Given the description of an element on the screen output the (x, y) to click on. 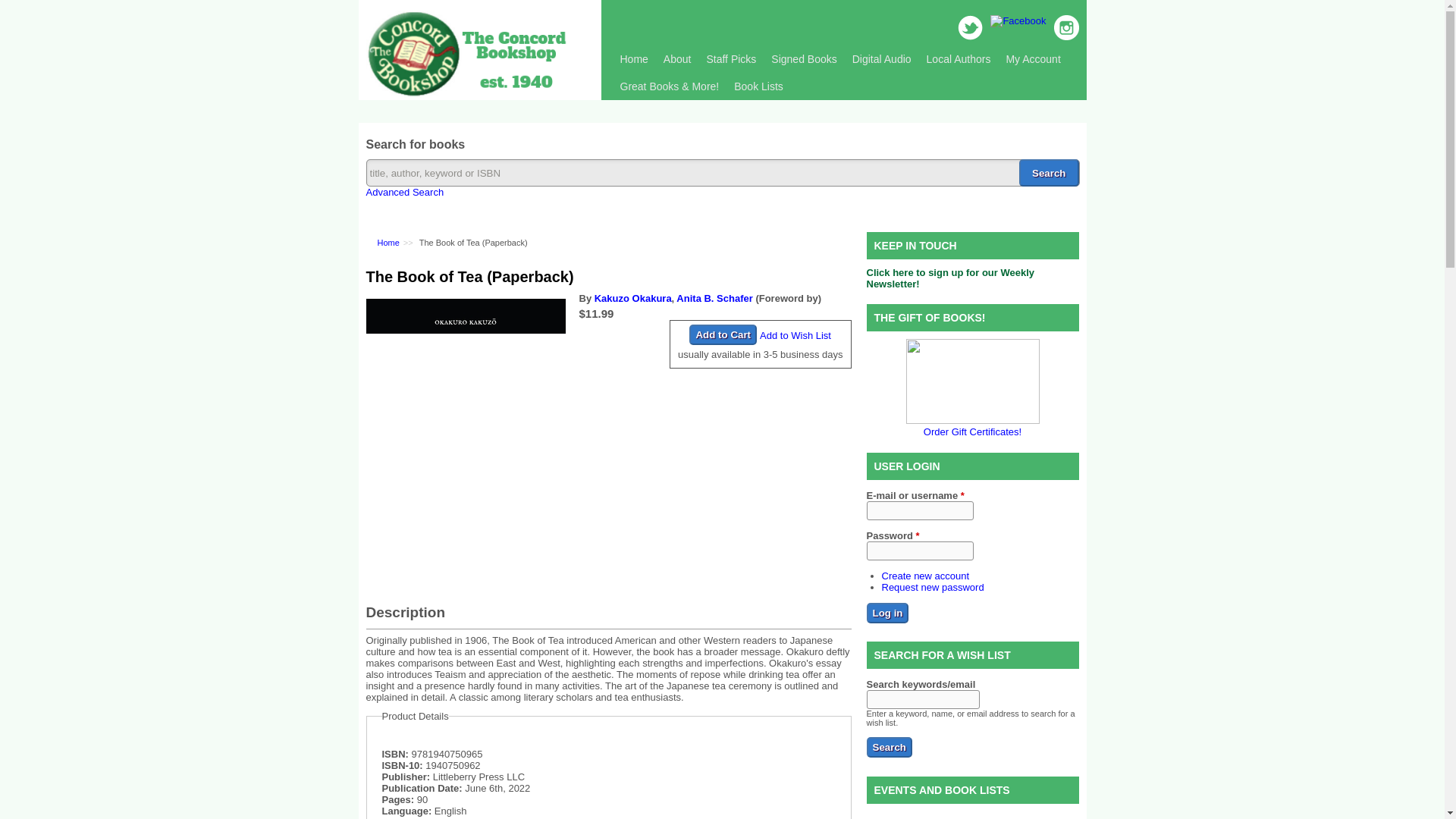
Log in (887, 611)
Digital Audio (881, 58)
Home (634, 58)
Create a new user account. (924, 575)
Request new password via e-mail. (932, 586)
Search (888, 747)
Local Authors (958, 58)
Add to Cart (722, 334)
Signed Books (803, 58)
